Given the description of an element on the screen output the (x, y) to click on. 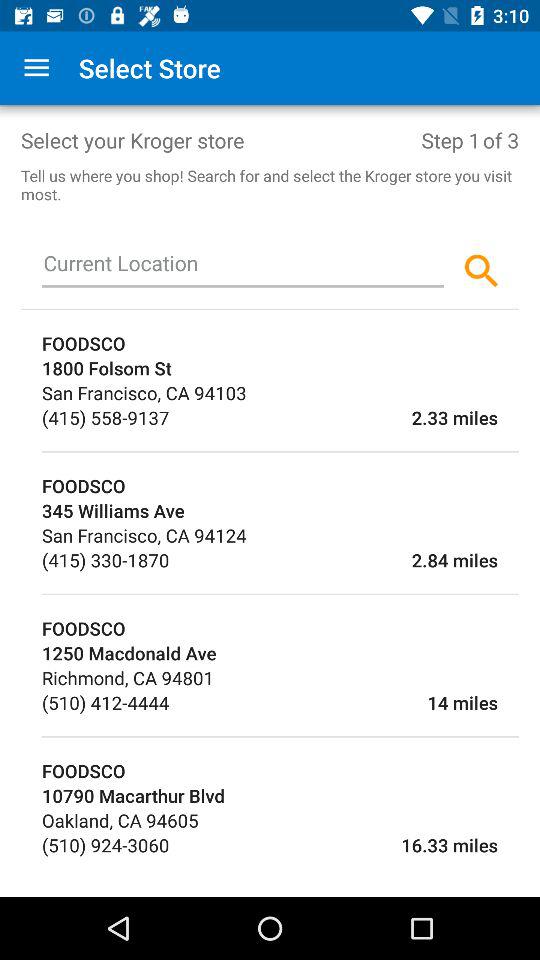
jump until 14 miles icon (333, 702)
